Given the description of an element on the screen output the (x, y) to click on. 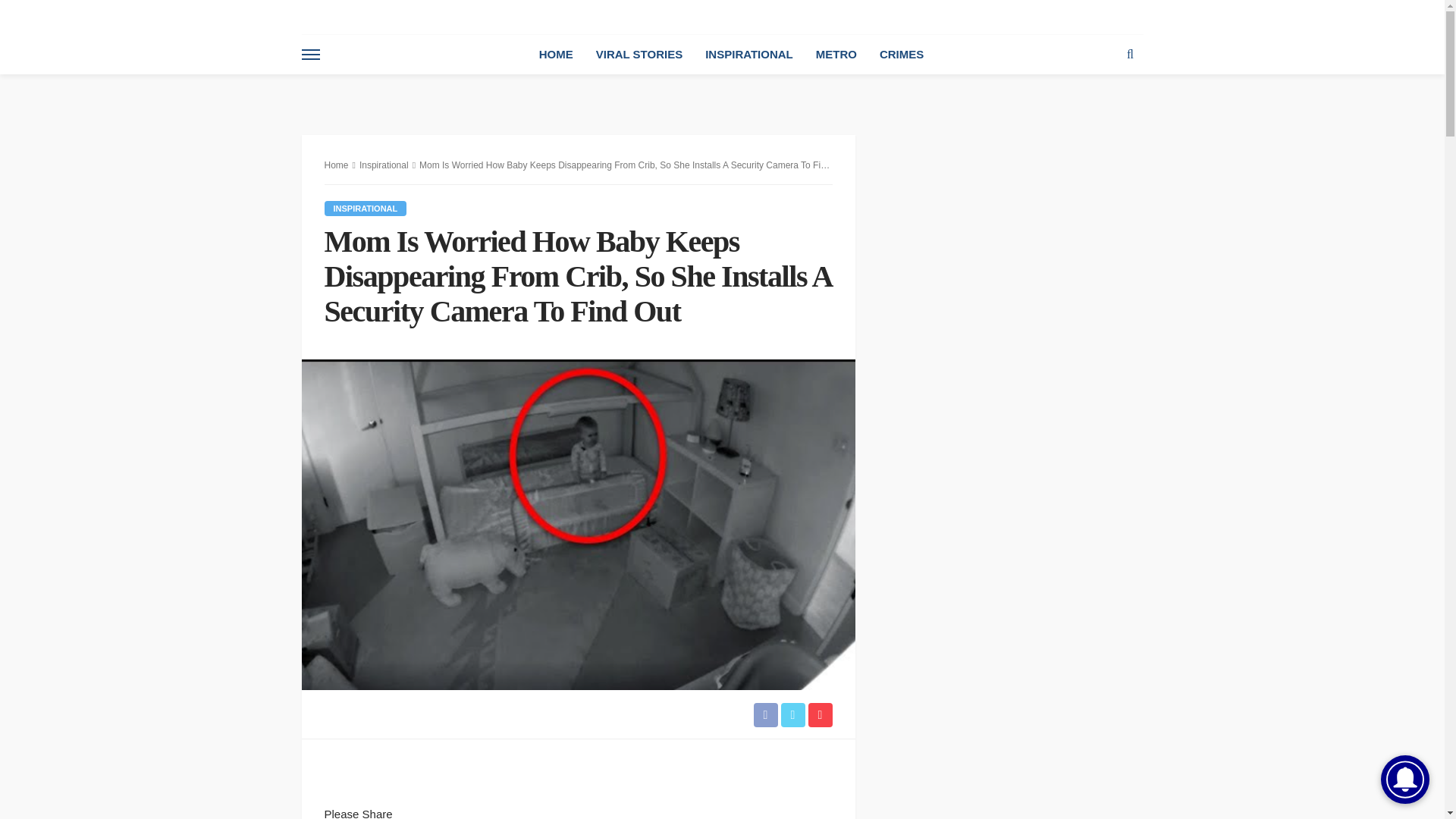
VIRAL STORIES (639, 54)
CRIMES (900, 54)
HOME (556, 54)
Home (336, 164)
METRO (836, 54)
INSPIRATIONAL (749, 54)
Inspirational (365, 208)
INSPIRATIONAL (365, 208)
Inspirational (384, 164)
